Given the description of an element on the screen output the (x, y) to click on. 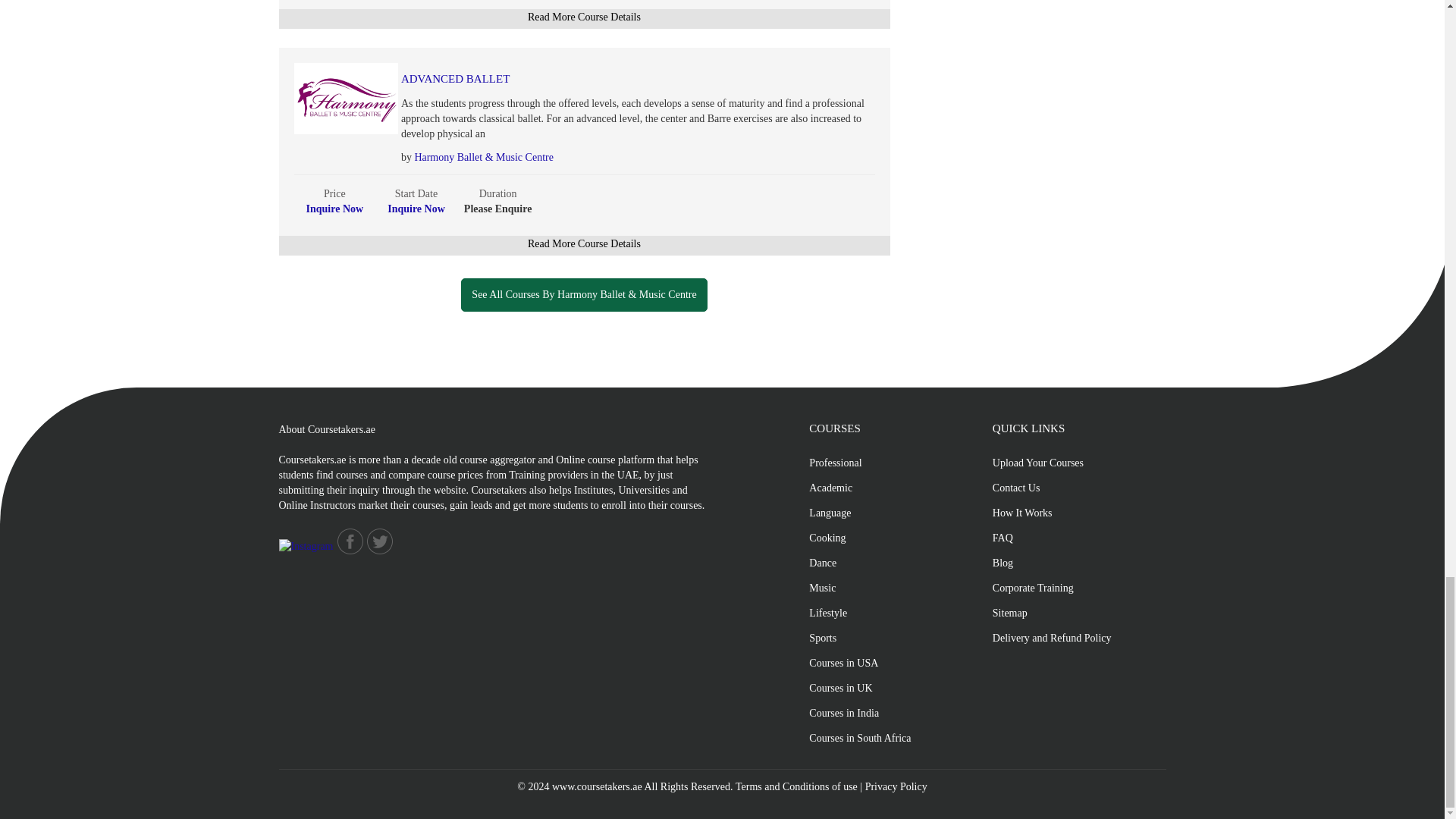
ADVANCED BALLET (602, 78)
Advanced Ballet (602, 78)
Read More Course Details (583, 16)
Inquire Now (334, 208)
